Given the description of an element on the screen output the (x, y) to click on. 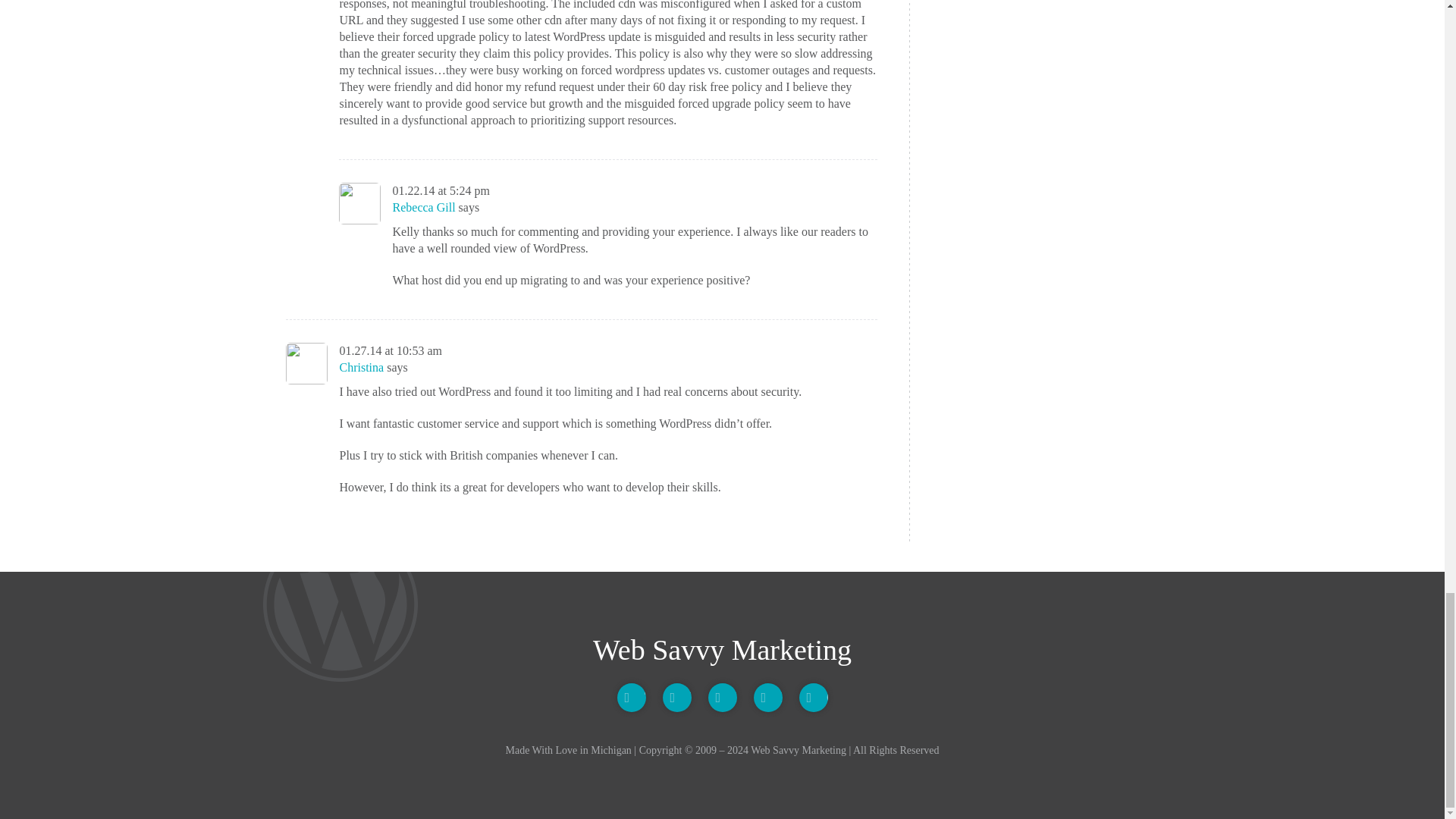
Linkedin (768, 697)
01.22.14 at 5:24 pm (441, 190)
Facebook (721, 697)
Christina (361, 367)
Twitter (631, 697)
Rebecca Gill (424, 206)
01.27.14 at 10:53 am (390, 350)
Youtube (676, 697)
